Given the description of an element on the screen output the (x, y) to click on. 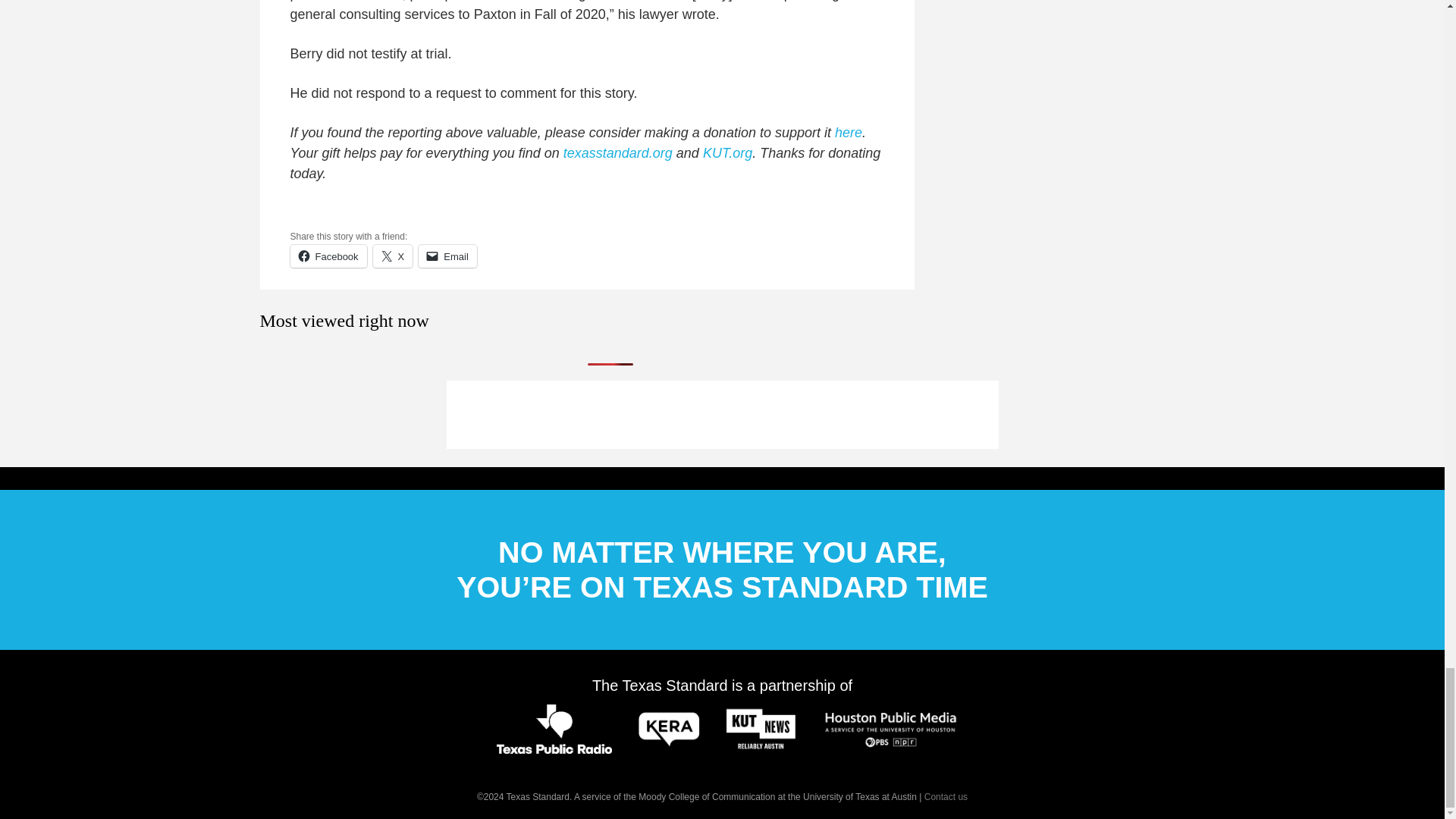
Click to email a link to a friend (448, 255)
Click to share on X (392, 255)
Click to share on Facebook (327, 255)
